Given the description of an element on the screen output the (x, y) to click on. 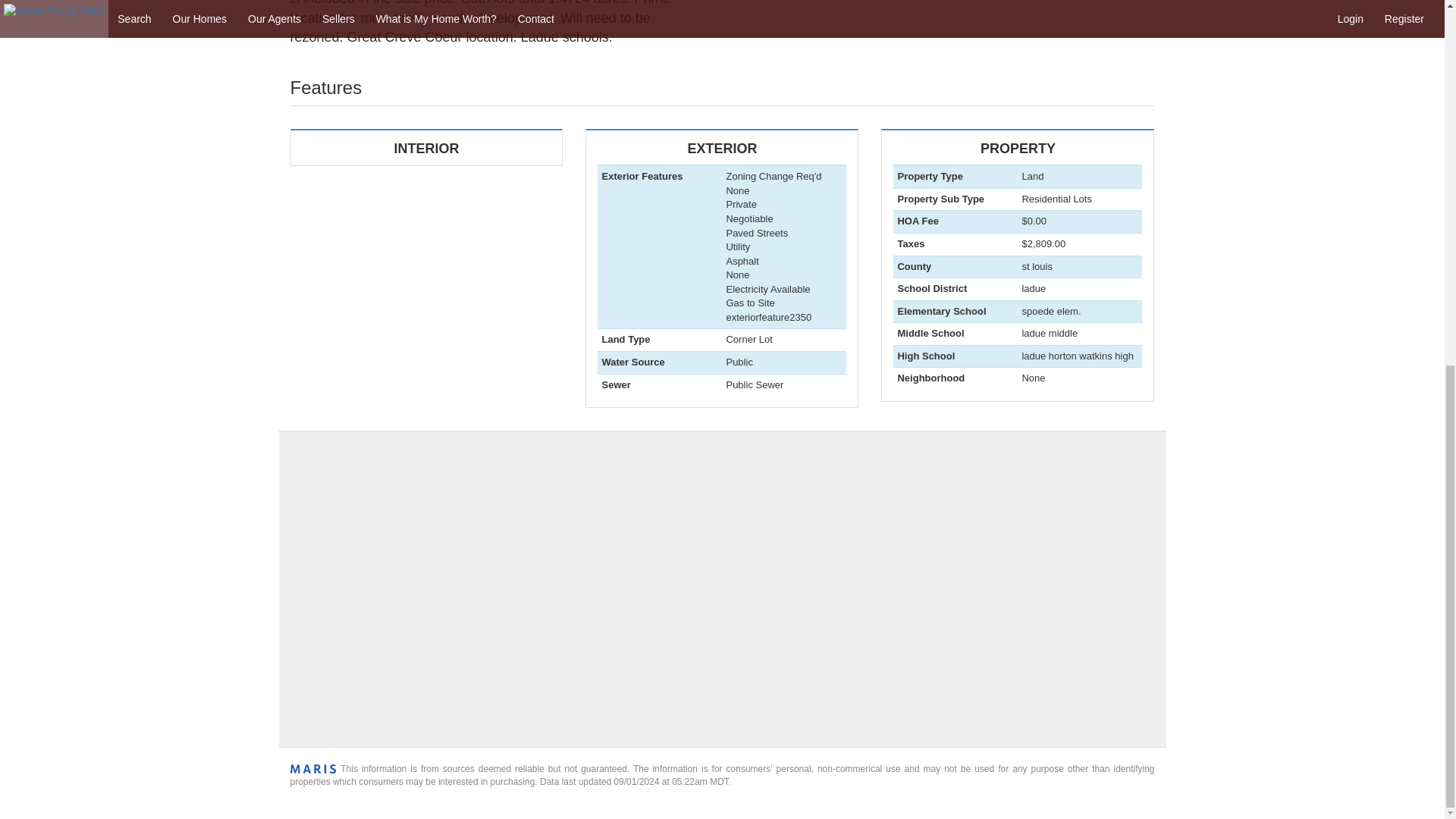
INTERIOR (425, 147)
